Given the description of an element on the screen output the (x, y) to click on. 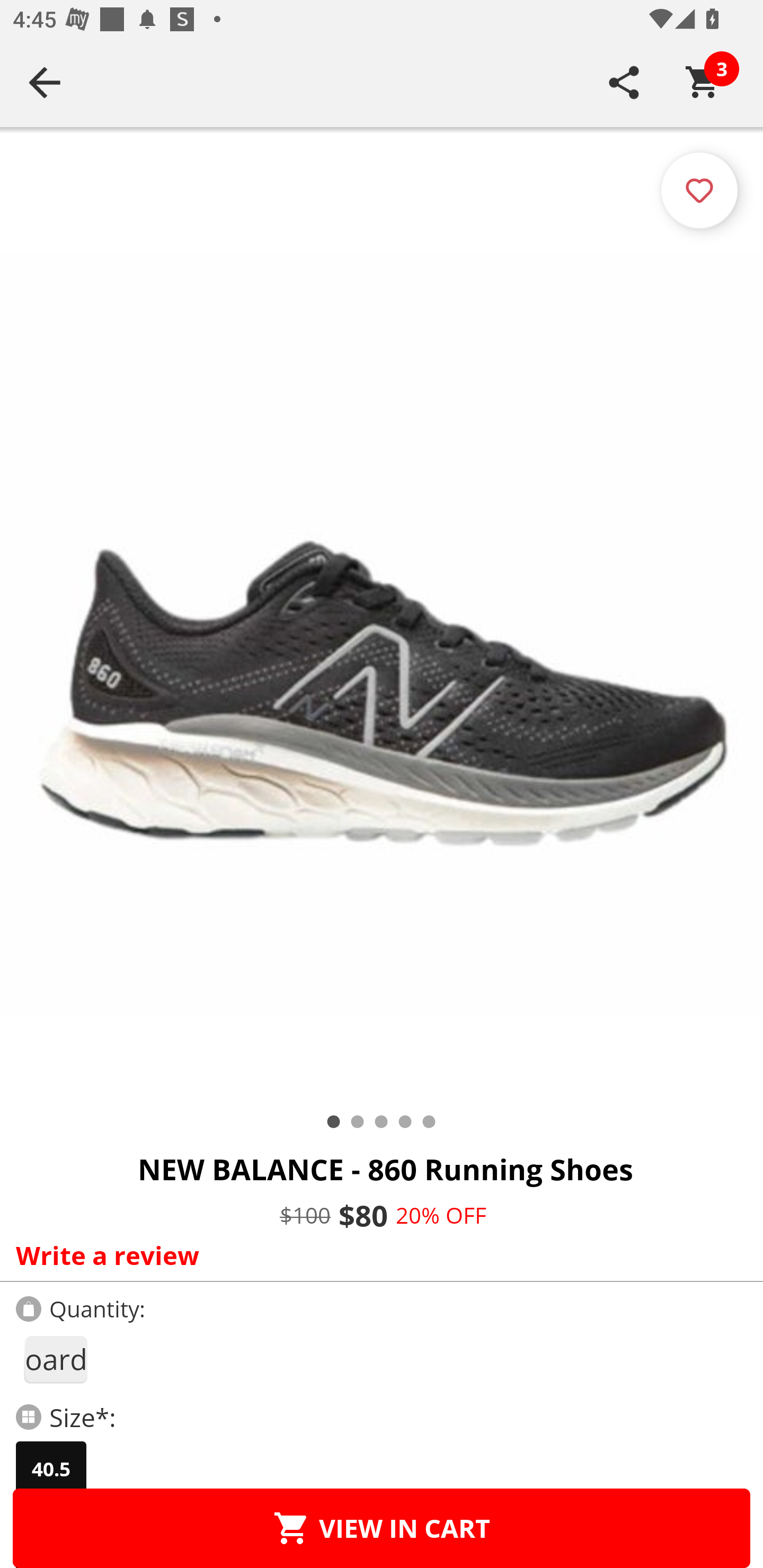
Navigate up (44, 82)
SHARE (623, 82)
Cart (703, 81)
Write a review (377, 1255)
1keyboard (55, 1358)
40.5 (51, 1468)
VIEW IN CART (381, 1528)
